Given the description of an element on the screen output the (x, y) to click on. 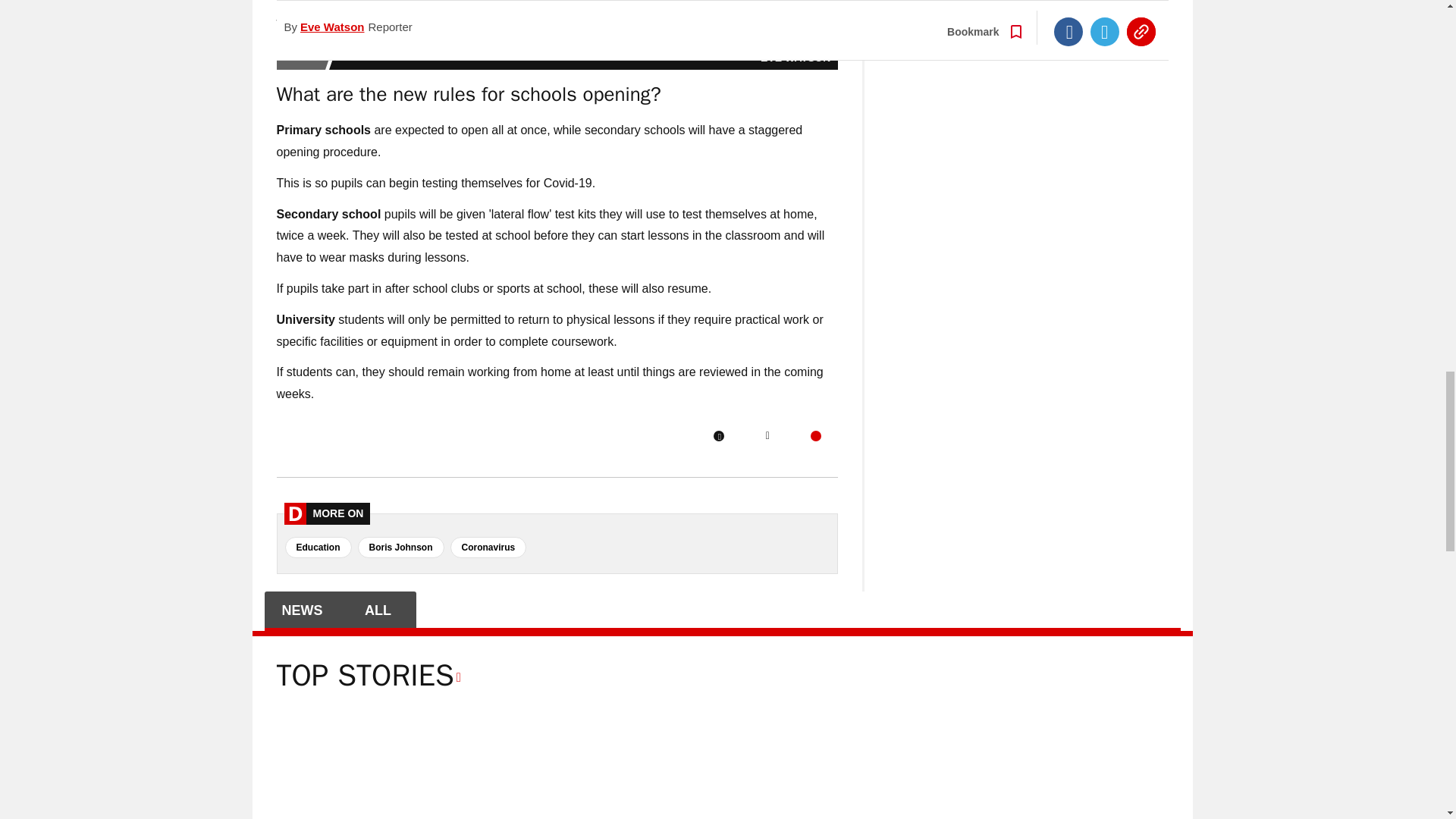
Facebook (718, 435)
Twitter (767, 435)
